Given the description of an element on the screen output the (x, y) to click on. 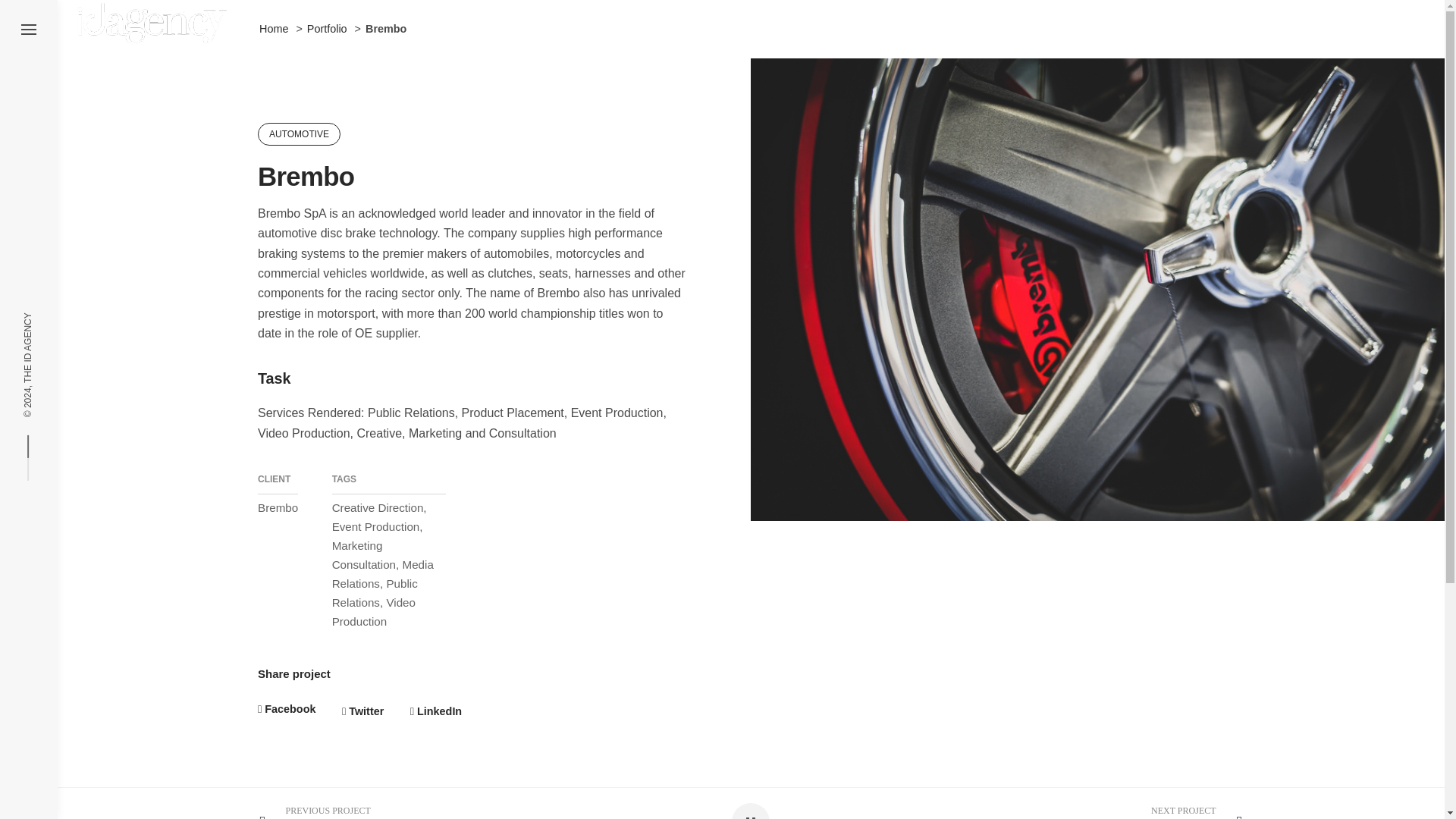
Portfolio (327, 28)
LinkedIn (435, 711)
Home (273, 28)
Facebook (286, 709)
Twitter (363, 711)
Subscribe (849, 680)
